Given the description of an element on the screen output the (x, y) to click on. 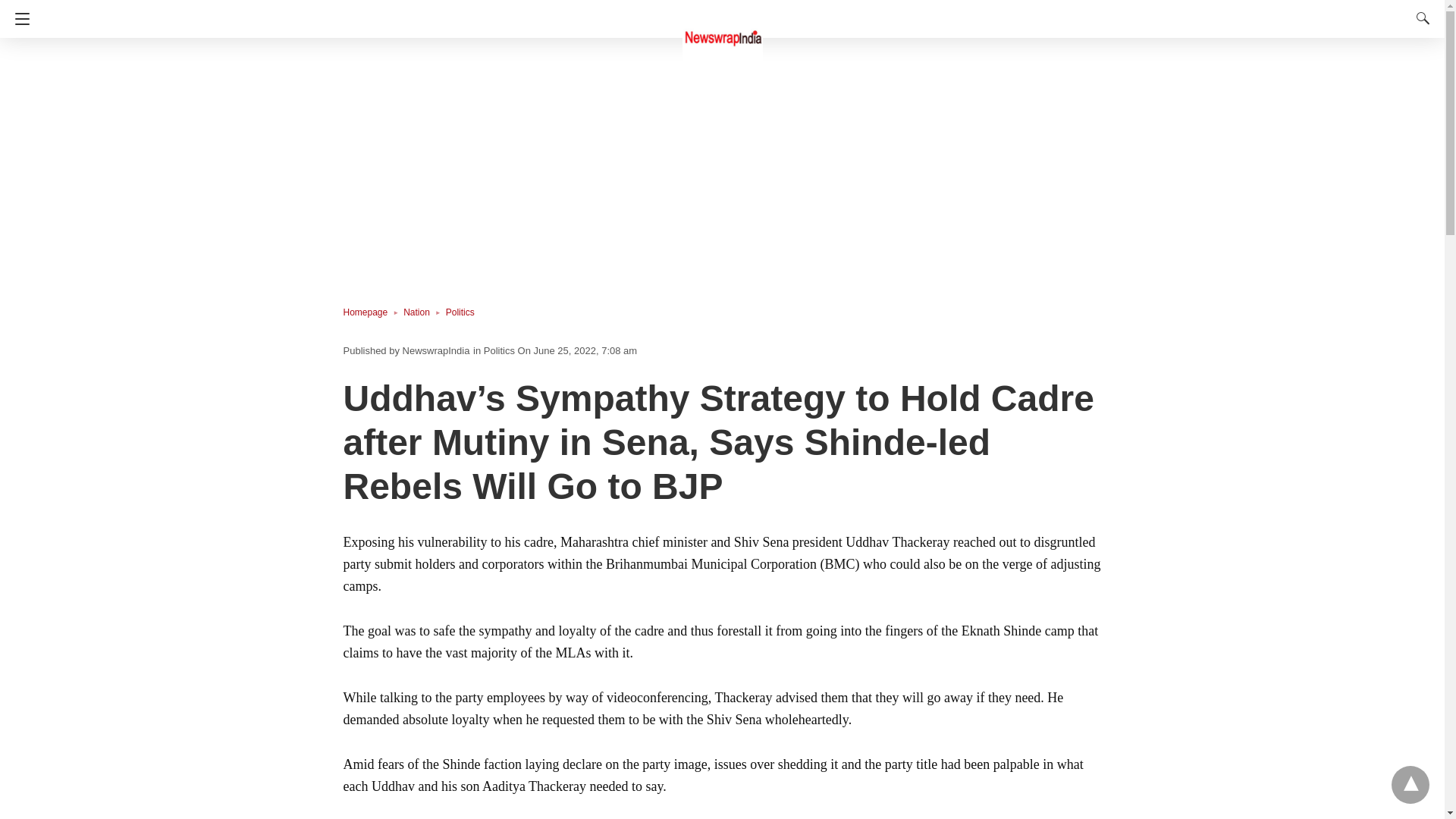
Nation (424, 312)
Politics (499, 350)
Politics (459, 312)
Politics (459, 312)
Homepage (372, 312)
Homepage (372, 312)
NewswrapIndia (722, 30)
Nation (424, 312)
